Given the description of an element on the screen output the (x, y) to click on. 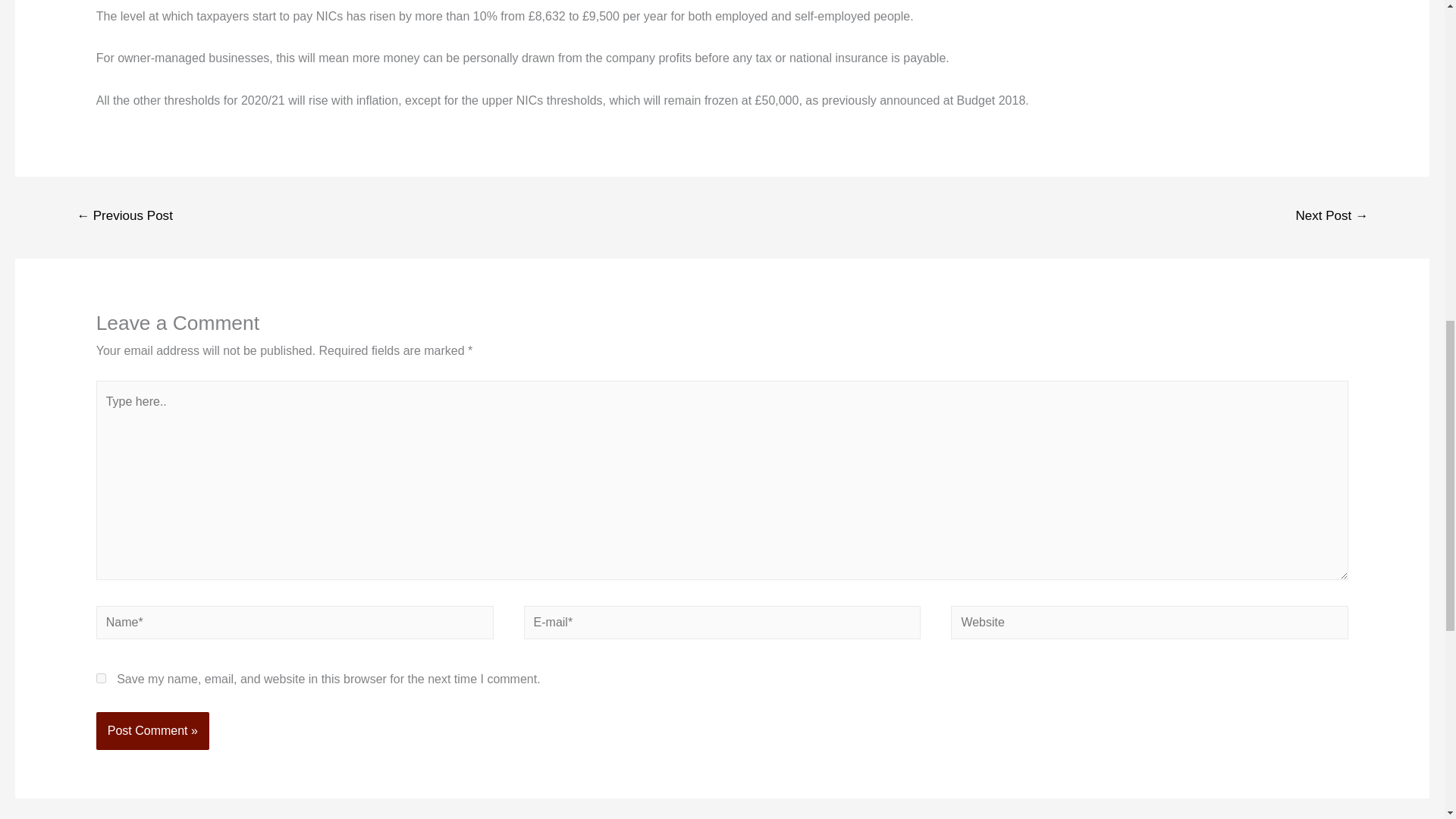
yes (101, 678)
